Given the description of an element on the screen output the (x, y) to click on. 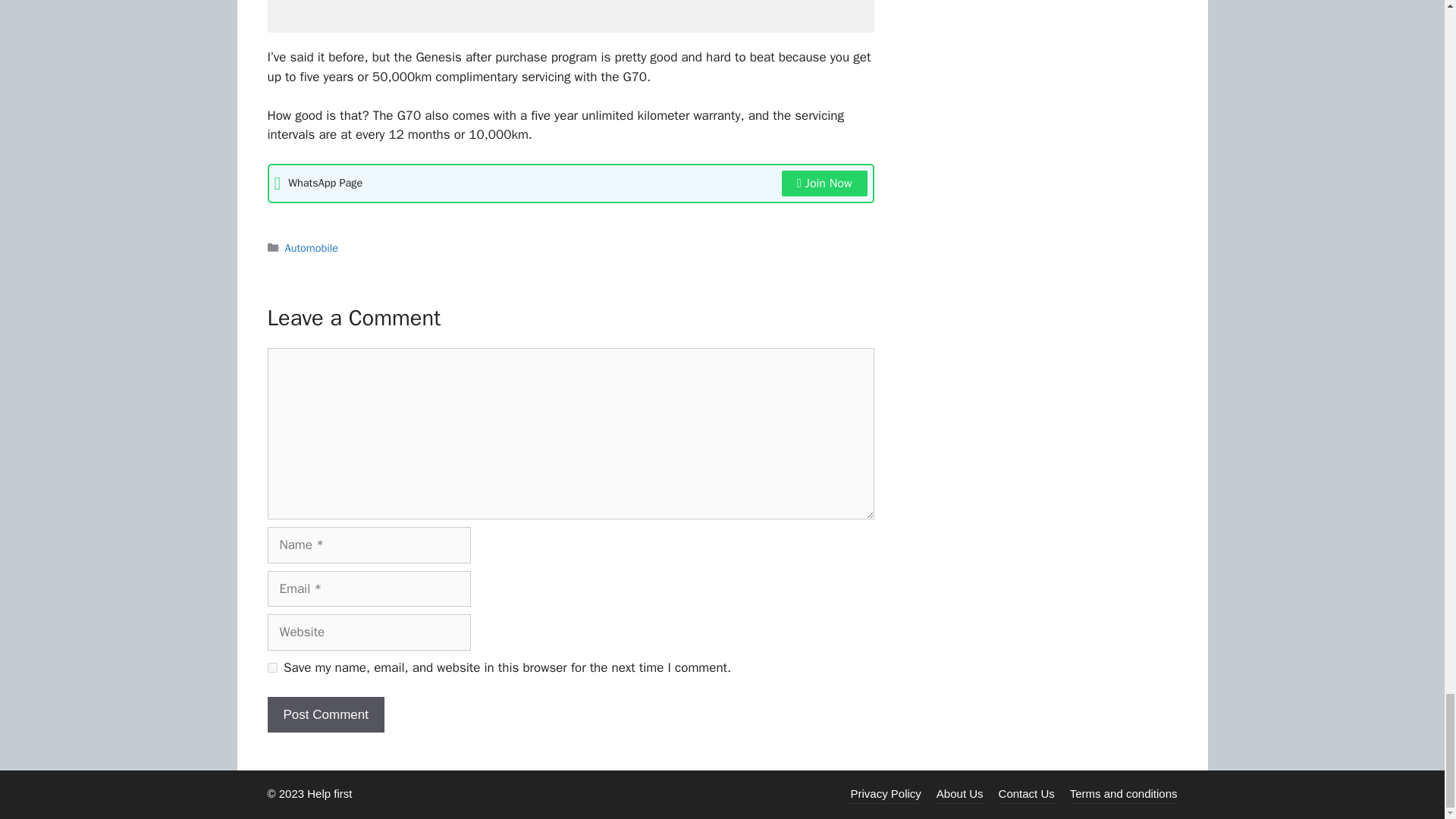
Join Now (824, 183)
Post Comment (325, 714)
Post Comment (325, 714)
About Us (960, 793)
Automobile (311, 247)
Privacy Policy (885, 793)
yes (271, 667)
